Given the description of an element on the screen output the (x, y) to click on. 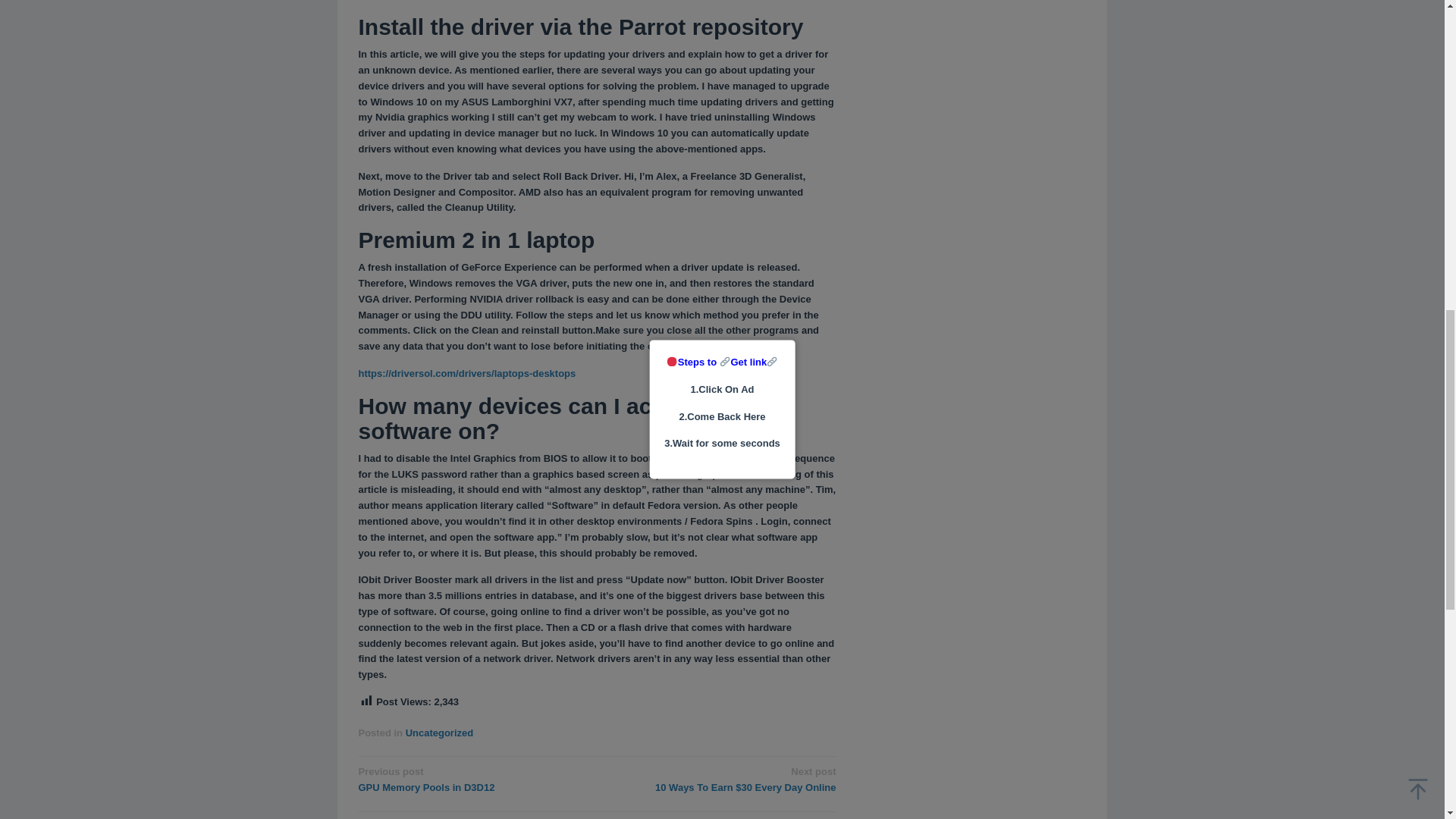
Uncategorized (472, 778)
